Given the description of an element on the screen output the (x, y) to click on. 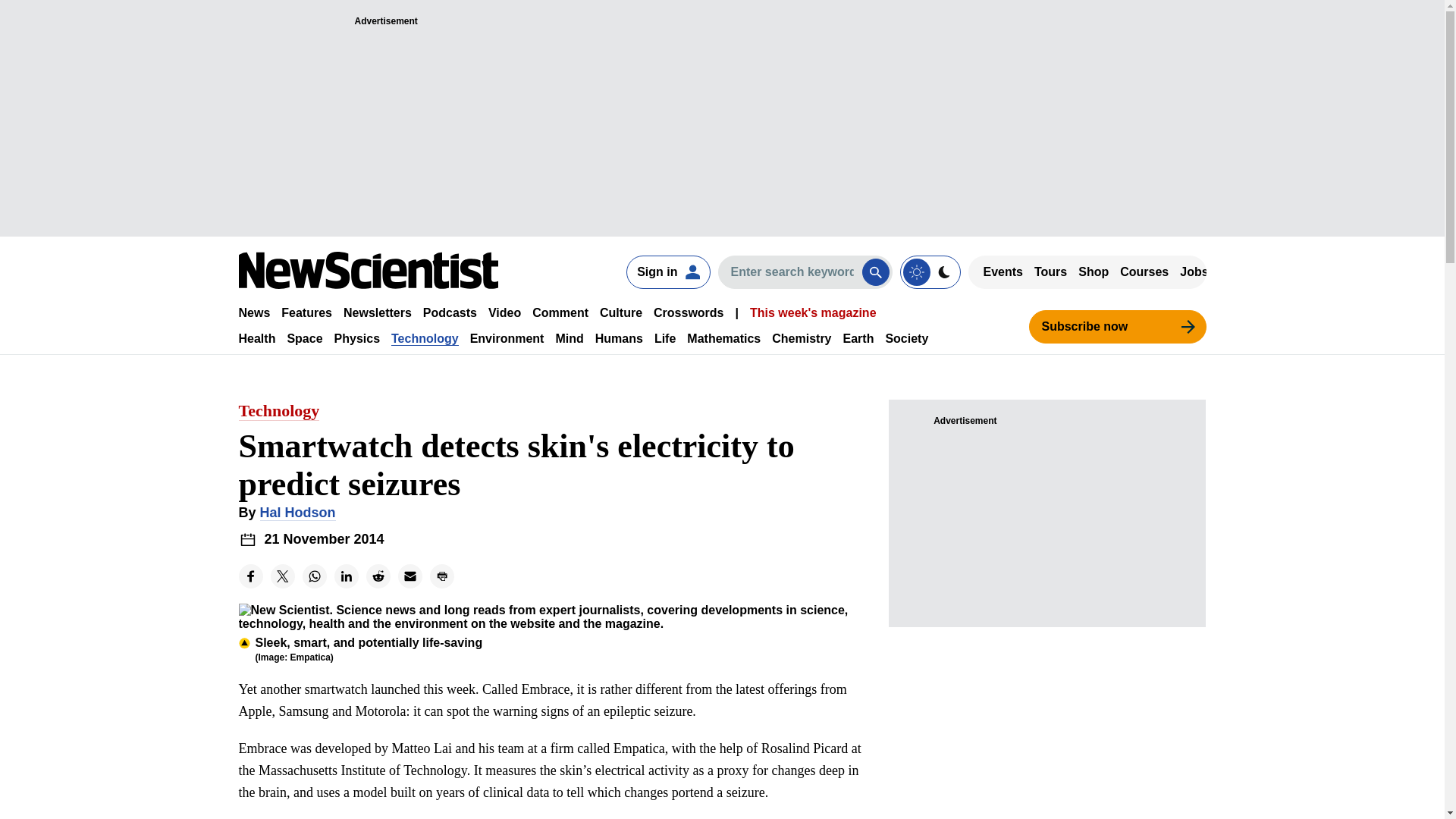
Mathematics (723, 338)
Space (303, 338)
Courses (1144, 272)
Shop (1093, 272)
Physics (357, 338)
Chemistry (801, 338)
Link to the homepage (367, 270)
Sign in (668, 272)
Humans (619, 338)
Environment (507, 338)
Life (664, 338)
Events (1002, 272)
Newsletters (377, 313)
Subscribe now (1116, 326)
Video (504, 313)
